Given the description of an element on the screen output the (x, y) to click on. 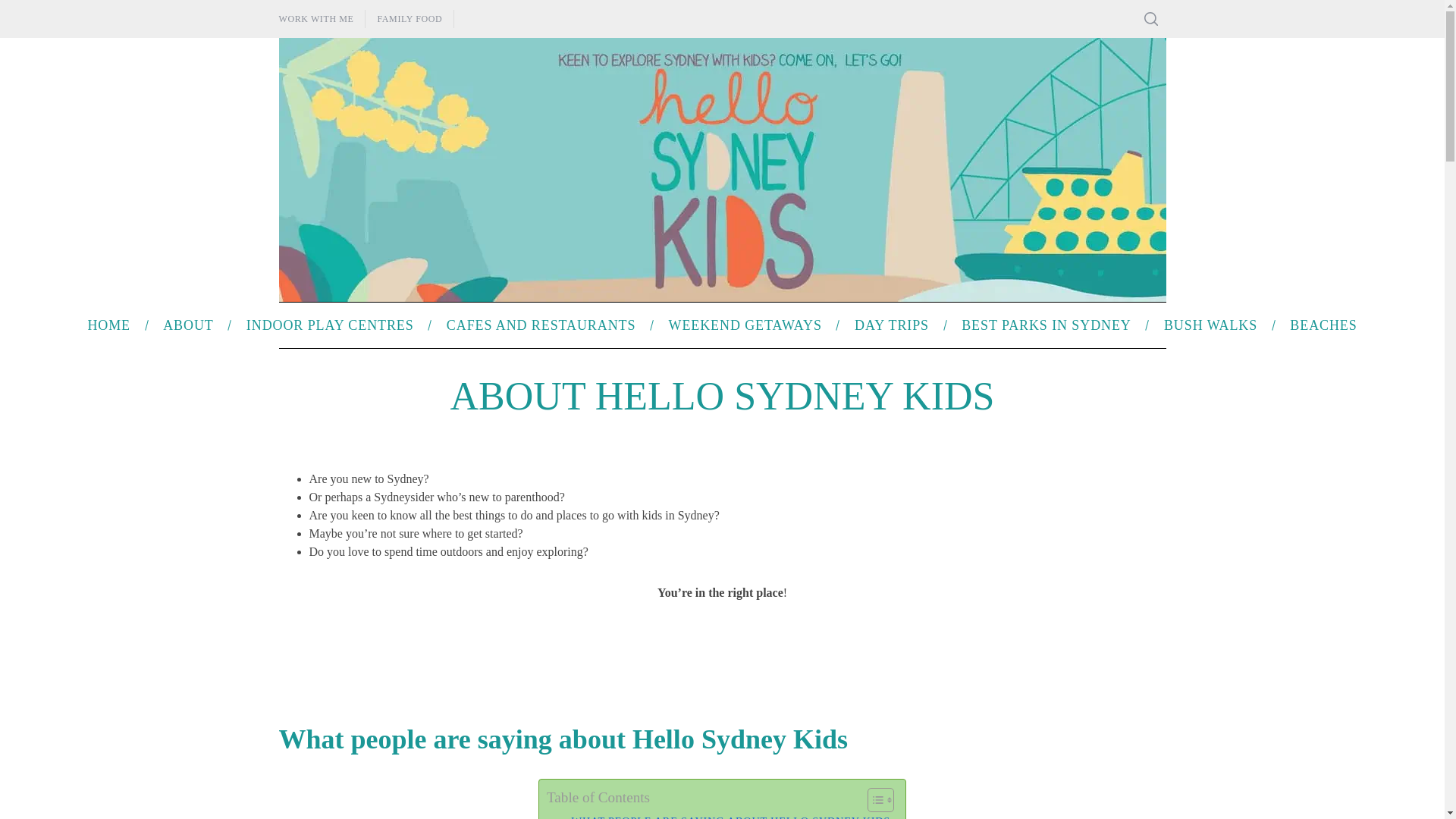
What people are saying about Hello Sydney Kids (726, 816)
BUSH WALKS (1209, 325)
WORK WITH ME (315, 18)
FAMILY FOOD (408, 18)
BEACHES (1324, 325)
WHAT PEOPLE ARE SAYING ABOUT HELLO SYDNEY KIDS (726, 816)
